Given the description of an element on the screen output the (x, y) to click on. 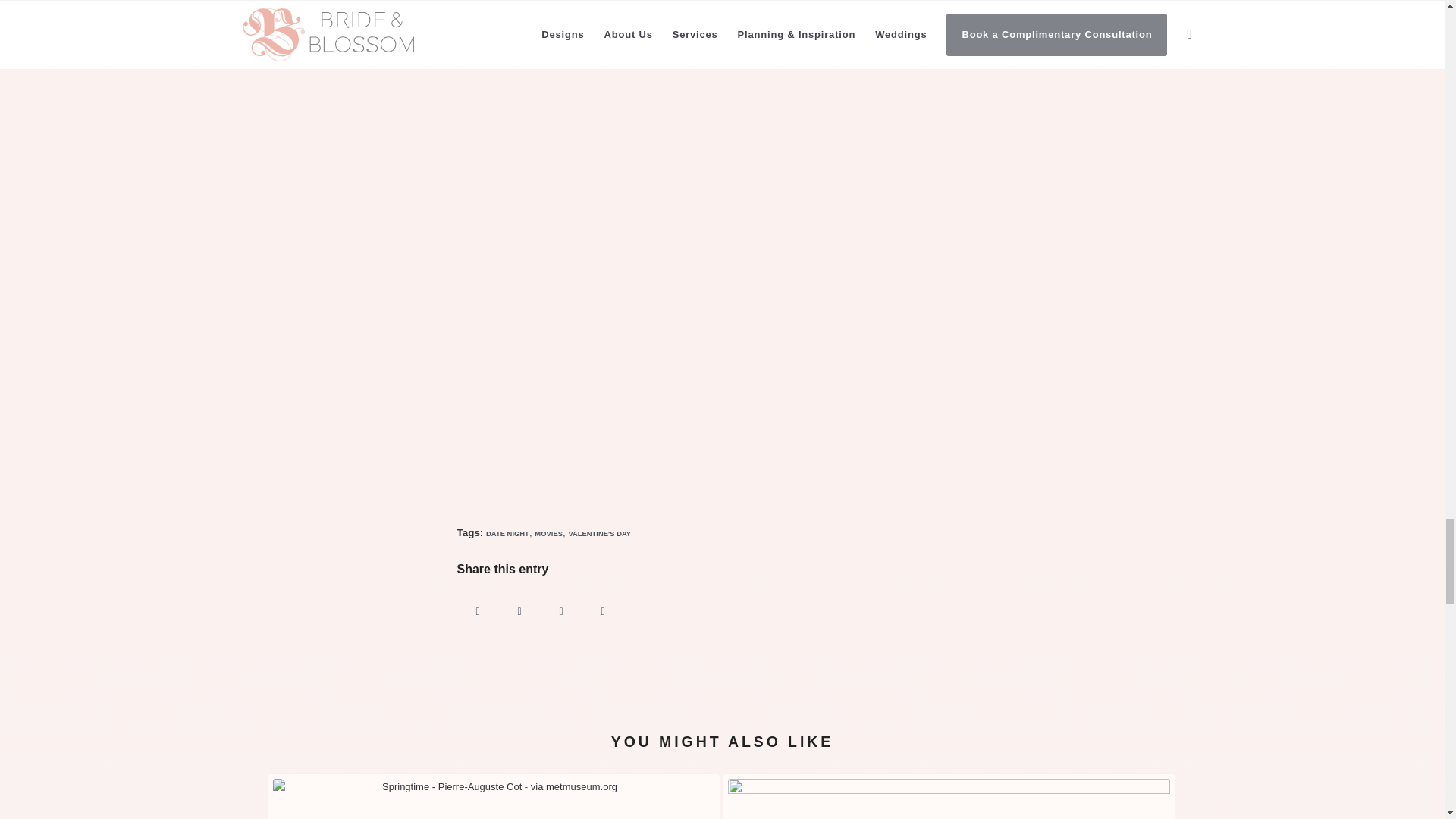
MOVIES (548, 533)
VALENTINE'S DAY (598, 533)
The Most Romantic Works of Art to See in New York City (492, 796)
DATE NIGHT (507, 533)
